Given the description of an element on the screen output the (x, y) to click on. 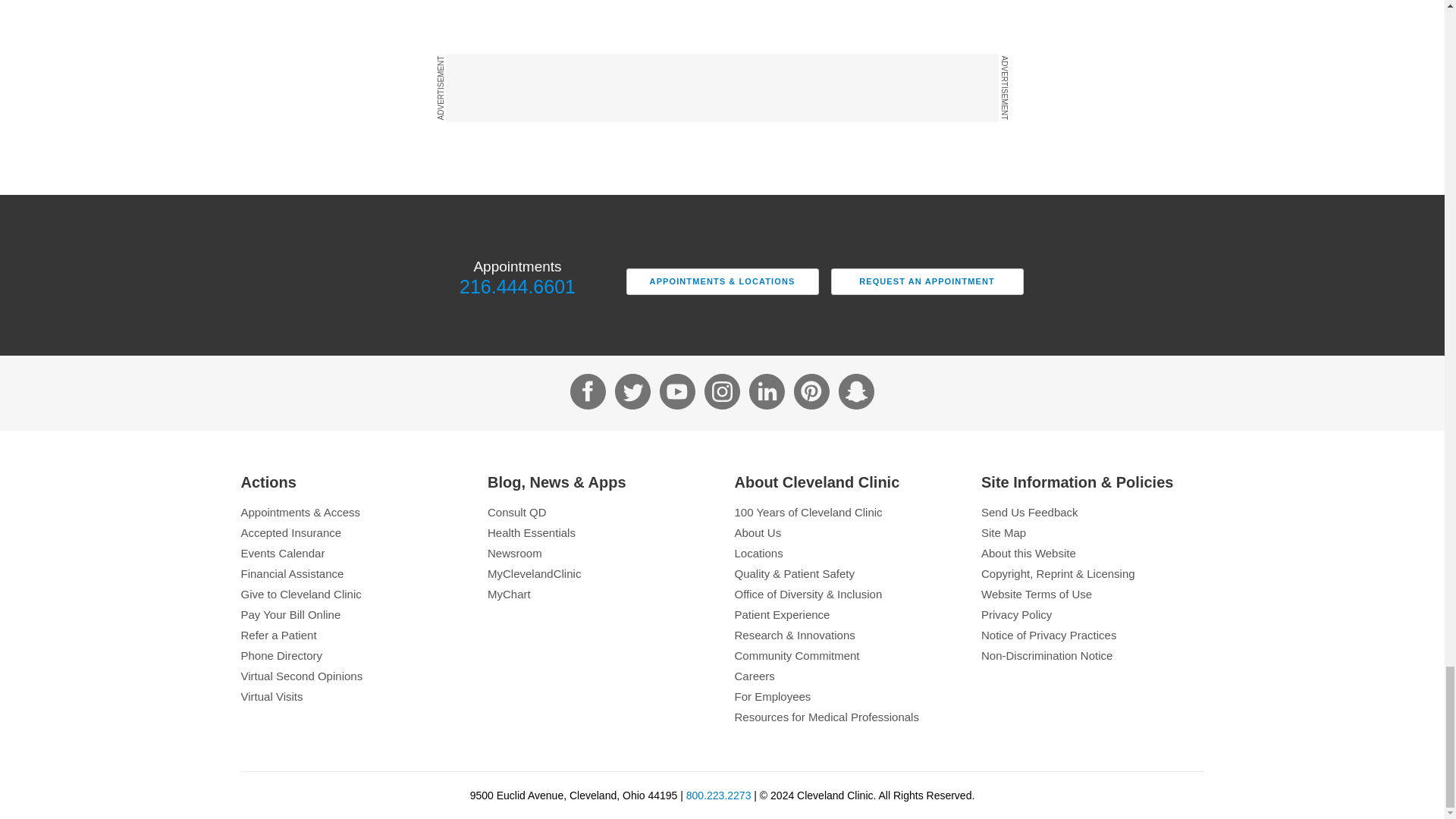
Health Essentials (598, 532)
Accepted Insurance (352, 532)
Careers (844, 675)
Consult QD (598, 511)
Phone Directory (352, 655)
Appointments (352, 511)
Send Us Feedback (1092, 511)
Pay Your Bill (352, 614)
Newsroom (598, 552)
